Given the description of an element on the screen output the (x, y) to click on. 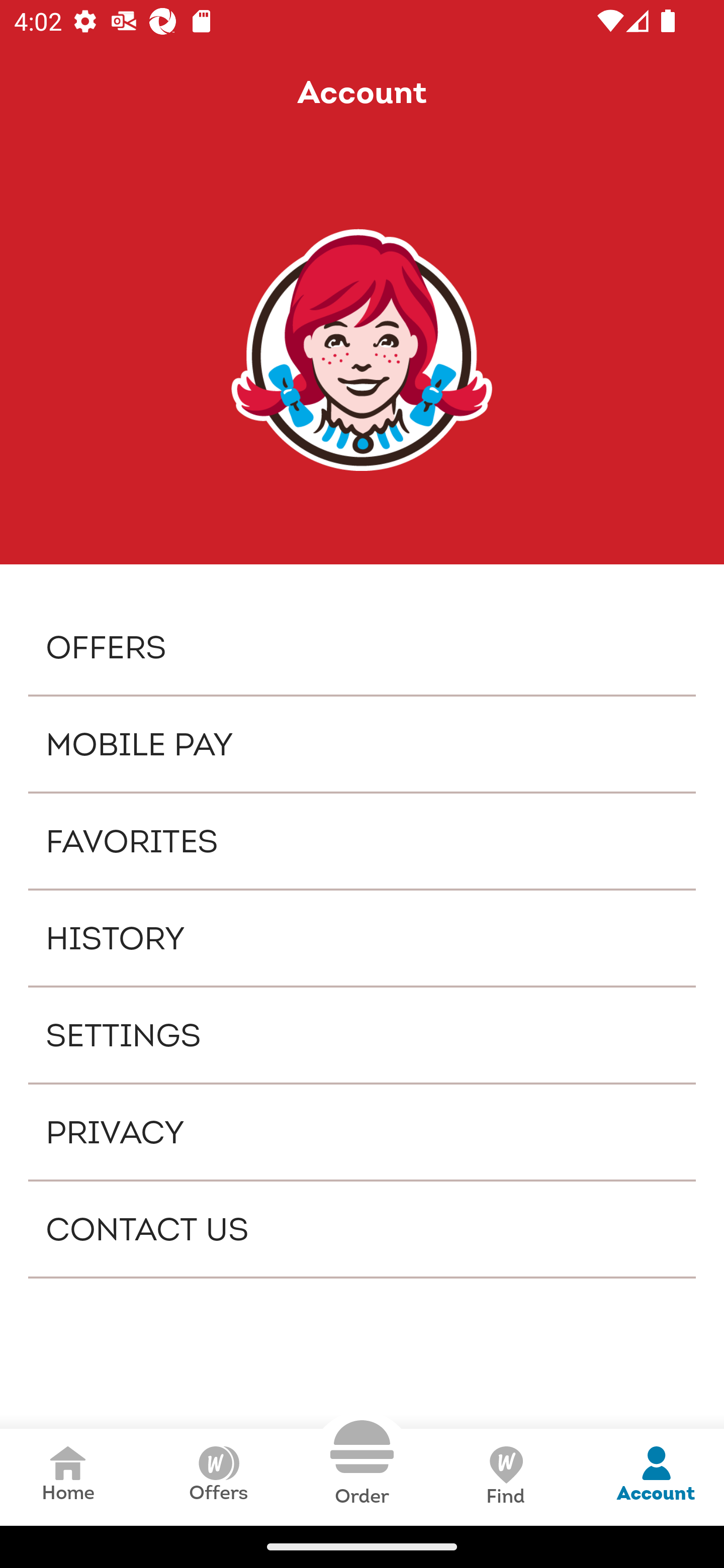
OFFERS Offers,1 of 8 (361, 646)
MOBILE PAY Mobile Pay,2 of 8 (361, 743)
FAVORITES Favorites,3 of 8 (361, 841)
HISTORY History,5 of 8 (361, 938)
SETTINGS Settings,6 of 8 (361, 1034)
PRIVACY Privacy,7 of 8 (361, 1132)
CONTACT US contact us,8 of 8 (361, 1229)
Order,3 of 5 Order (361, 1463)
Home,1 of 5 Home (68, 1476)
Rewards,2 of 5 Offers Offers (218, 1476)
Scan,4 of 5 Find Find (505, 1476)
Account,5 of 5 Account (655, 1476)
